Given the description of an element on the screen output the (x, y) to click on. 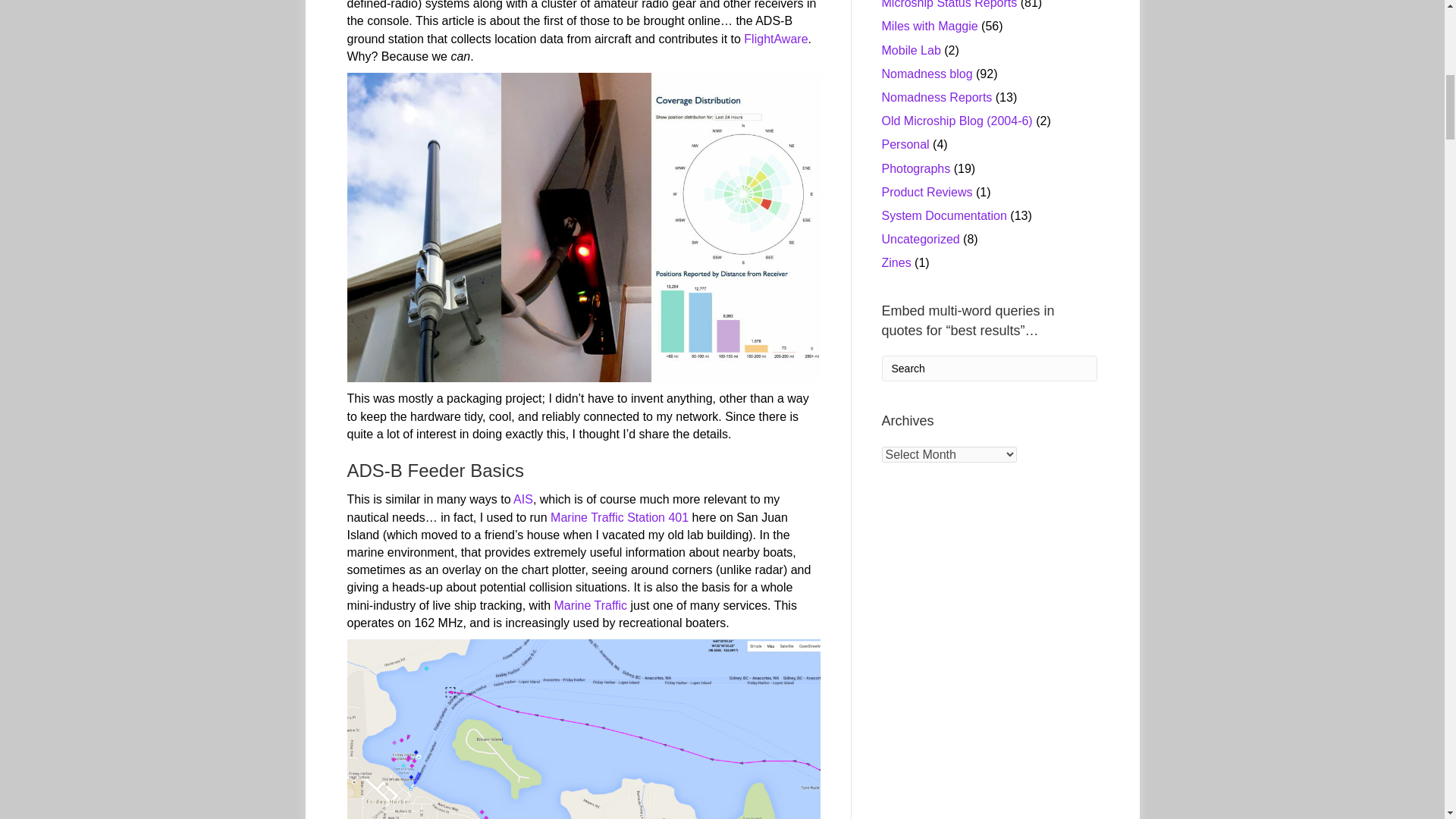
Type and press Enter to search. (988, 368)
Search (988, 368)
Search (988, 368)
